Given the description of an element on the screen output the (x, y) to click on. 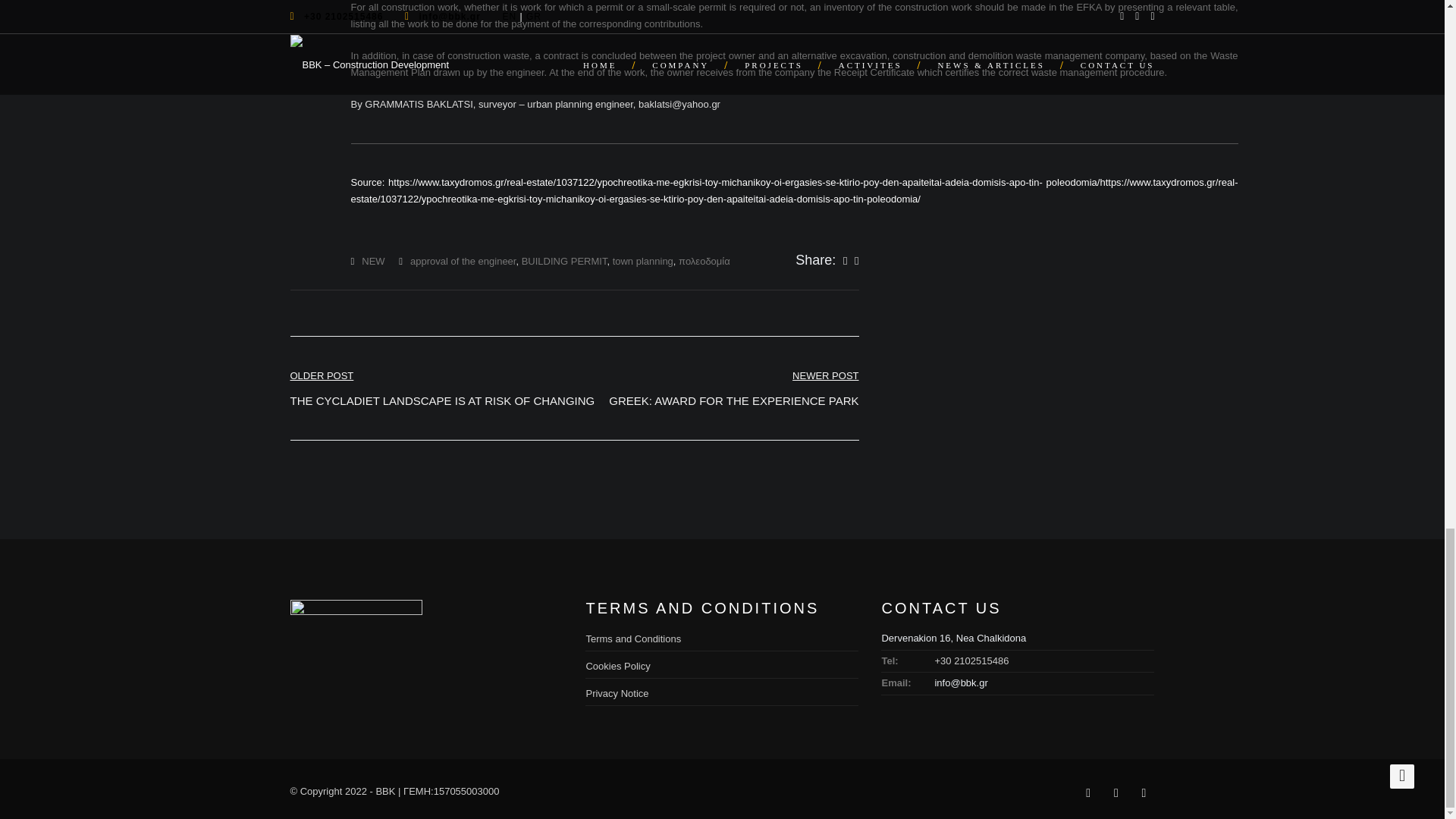
town planning (441, 388)
Dervenakion 16, Nea Chalkidona (733, 388)
Privacy Notice (642, 260)
Cookies Policy (953, 637)
Terms and Conditions (616, 693)
NEW (617, 665)
BUILDING PERMIT (633, 638)
approval of the engineer (372, 260)
